Given the description of an element on the screen output the (x, y) to click on. 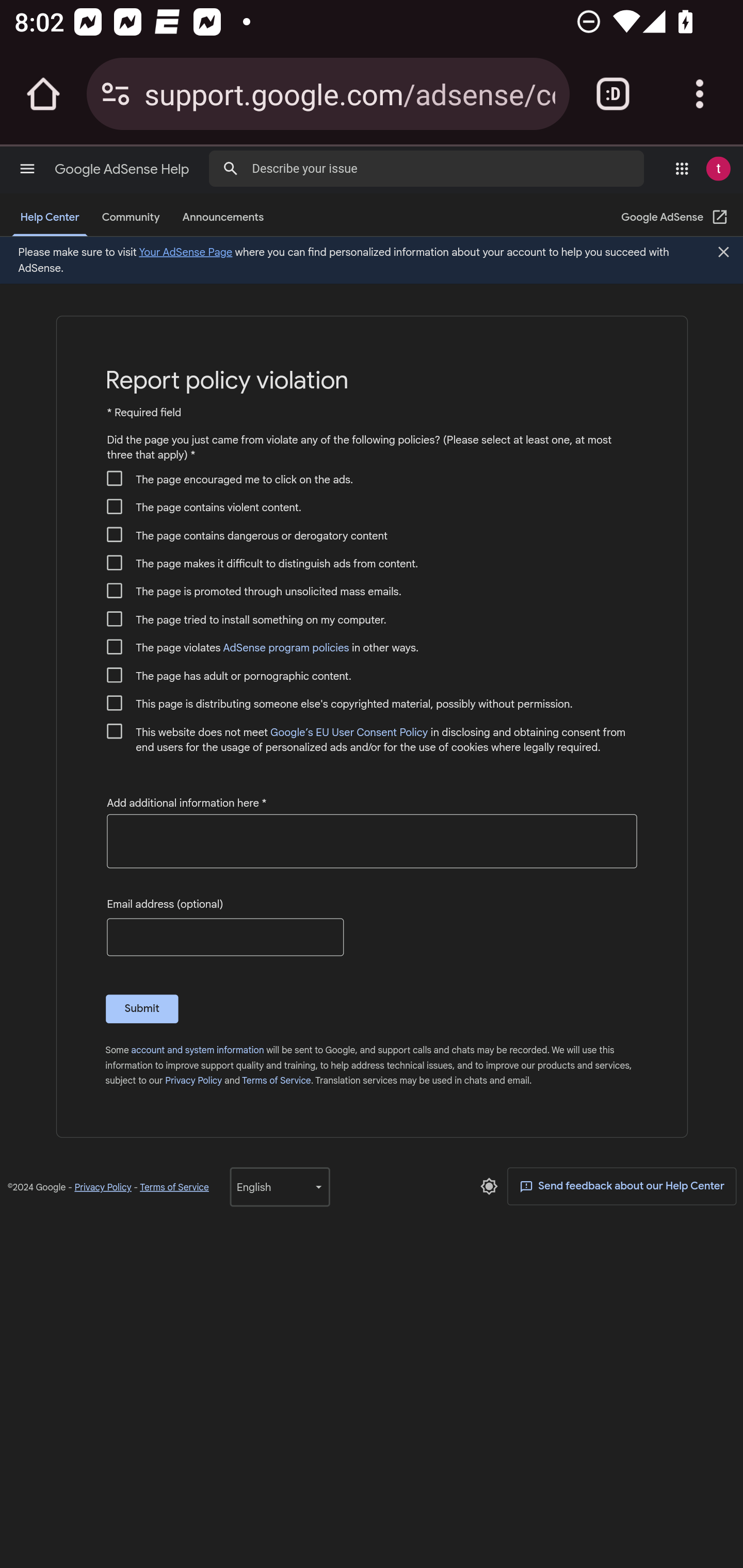
Open the home page (43, 93)
Connection is secure (115, 93)
Switch or close tabs (612, 93)
Customize and control Google Chrome (699, 93)
Main menu (27, 168)
Google AdSense Help (123, 169)
Search Help Center (229, 167)
Google apps (681, 168)
Help Center (49, 217)
Community (129, 217)
Announcements (222, 217)
Close (723, 252)
Your AdSense Page (184, 251)
The page encouraged me to click on the ads. (114, 478)
The page contains violent content. (114, 505)
The page contains dangerous or derogatory content (114, 534)
The page has adult or pornographic content. (114, 674)
Submit (142, 1008)
account and system information (197, 1050)
Privacy Policy (193, 1080)
Terms of Service (275, 1080)
Language (English‎) (278, 1186)
Disable Dark Mode (488, 1185)
 Send feedback about our Help Center (621, 1185)
Privacy Policy (103, 1186)
Terms of Service (174, 1186)
